Given the description of an element on the screen output the (x, y) to click on. 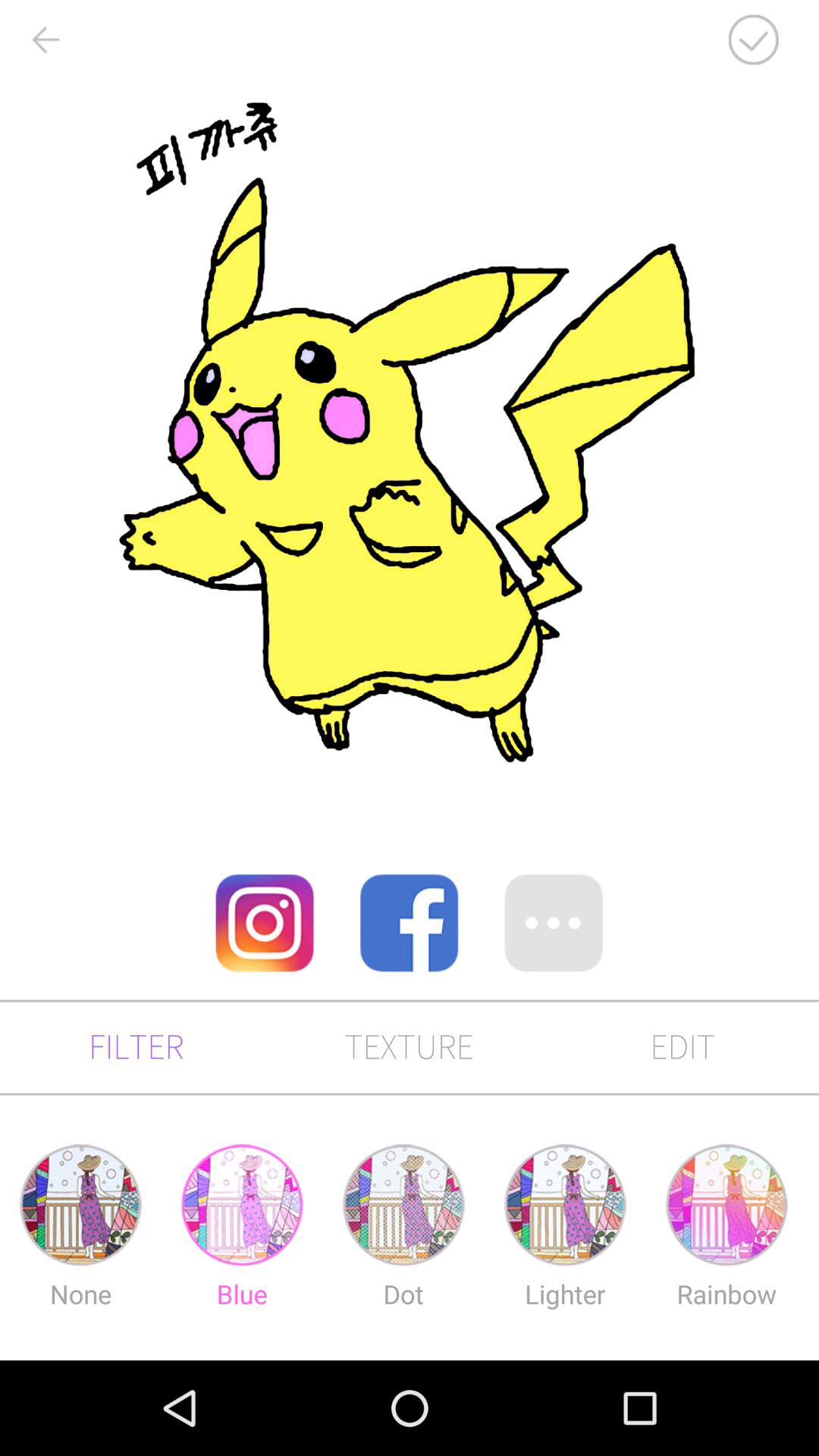
launch the item on the left (264, 922)
